Given the description of an element on the screen output the (x, y) to click on. 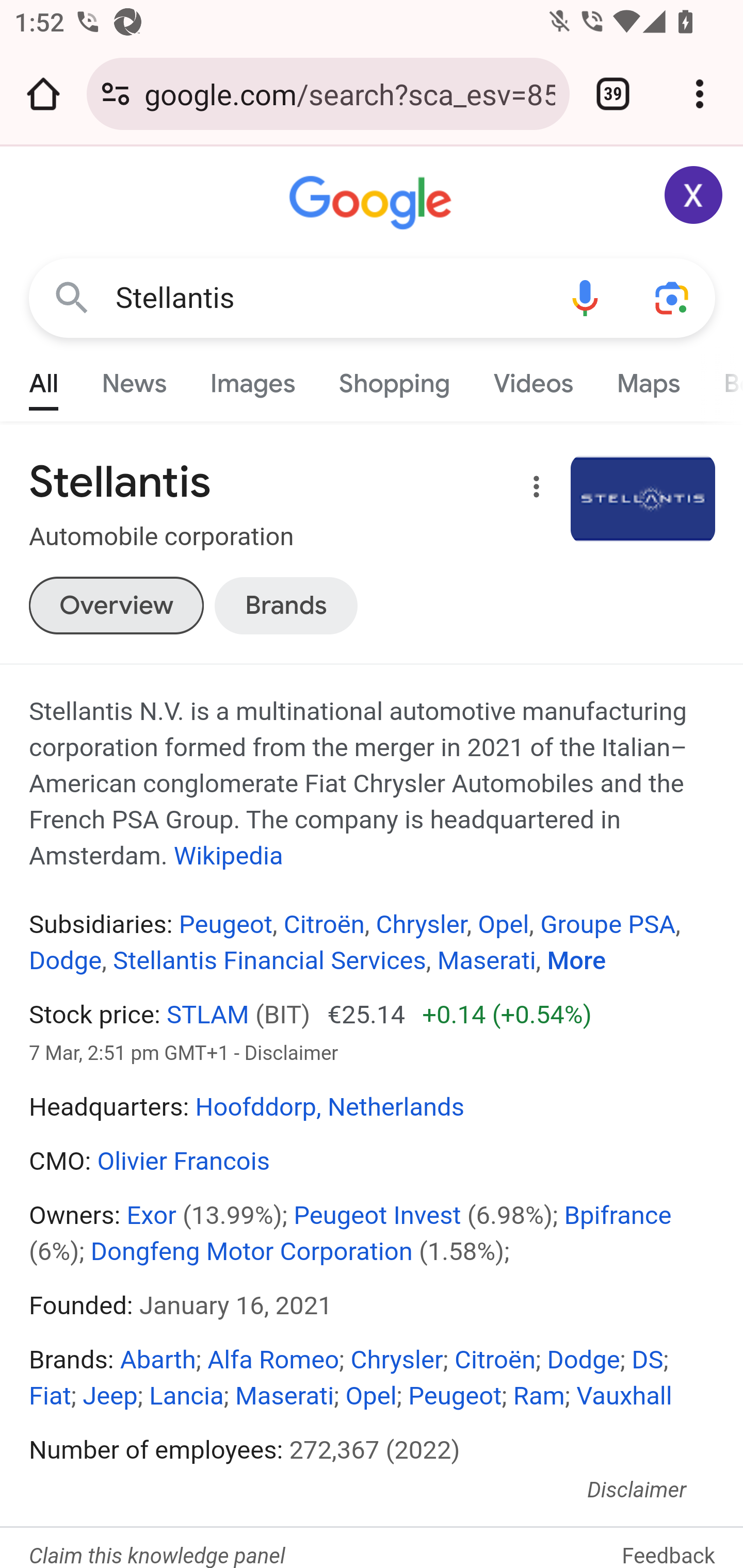
Open the home page (43, 93)
Connection is secure (115, 93)
Switch or close tabs (612, 93)
Customize and control Google Chrome (699, 93)
Google (372, 203)
Google Account: Xiaoran (zxrappiumtest@gmail.com) (694, 195)
Google Search (71, 296)
Search using your camera or photos (672, 296)
Stellantis (328, 297)
News (134, 378)
Images (252, 378)
Shopping (394, 378)
Videos (533, 378)
Maps (647, 378)
Thumbnail image for Stellantis (643, 499)
More options (532, 489)
Overview (116, 605)
Brands (285, 605)
Wikipedia (228, 855)
Peugeot (224, 924)
Citroën (323, 924)
Chrysler (421, 924)
Opel (504, 924)
Groupe PSA (607, 924)
Dodge (65, 960)
Stellantis Financial Services (269, 960)
Maserati (486, 960)
More (576, 960)
STLAM (207, 1015)
Disclaimer (291, 1052)
Hoofddorp, Netherlands (329, 1106)
Olivier Francois (183, 1161)
Exor (151, 1214)
Peugeot Invest (377, 1214)
Bpifrance (618, 1214)
Dongfeng Motor Corporation (251, 1251)
Abarth (157, 1359)
Alfa Romeo (273, 1359)
Chrysler (397, 1359)
Citroën (494, 1359)
Dodge (583, 1359)
DS (647, 1359)
Fiat (50, 1395)
Jeep (109, 1395)
Lancia (186, 1395)
Maserati (284, 1395)
Opel (370, 1395)
Peugeot (454, 1395)
Ram (538, 1395)
Vauxhall (624, 1395)
Disclaimer (636, 1490)
Feedback (669, 1540)
Claim this knowledge panel (156, 1555)
